Given the description of an element on the screen output the (x, y) to click on. 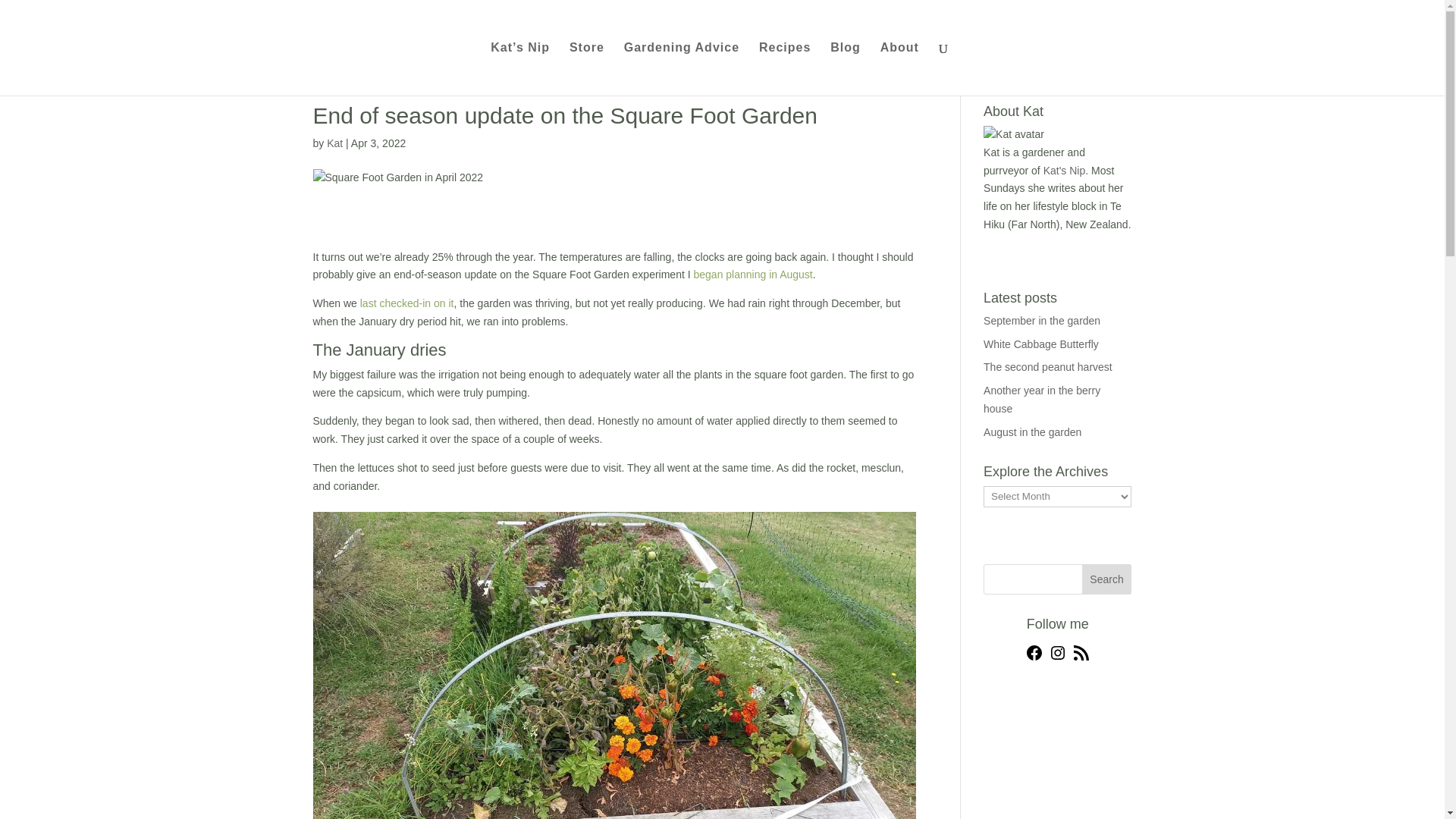
September in the garden (1042, 320)
Recipes (784, 68)
Another year in the berry house (1042, 399)
Kat's Nip (1064, 170)
last checked-in on it (406, 303)
Facebook (1034, 657)
Kat (334, 143)
The second peanut harvest (1048, 367)
Posts by Kat (334, 143)
August in the garden (1032, 431)
